Given the description of an element on the screen output the (x, y) to click on. 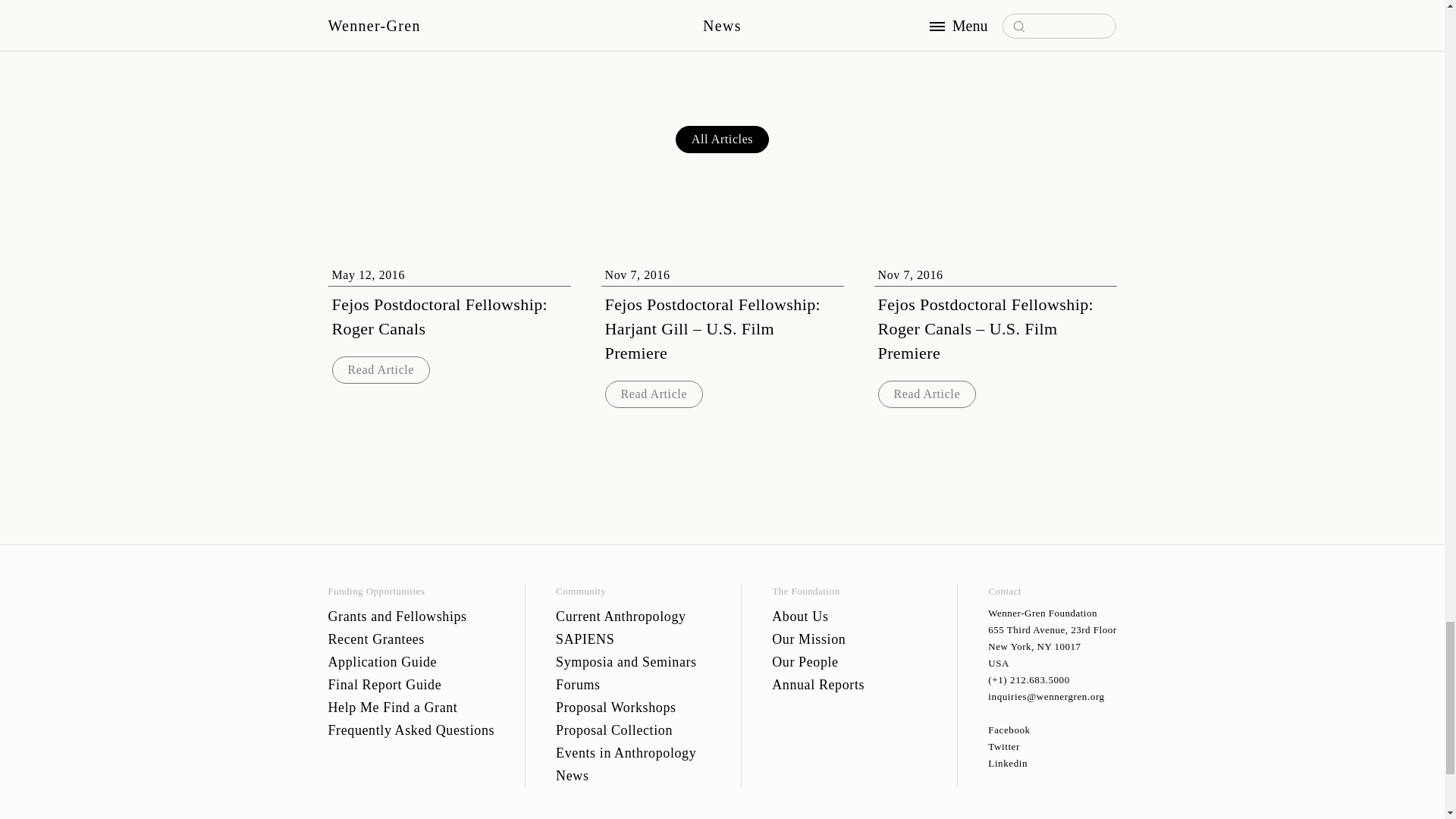
twitter (1052, 746)
All Articles (721, 139)
Read Article (380, 370)
Read Article (926, 393)
Recent Grantees (411, 639)
facebook (1052, 729)
linkedin (1052, 763)
Read Article (654, 393)
Grants and Fellowships (411, 616)
